Given the description of an element on the screen output the (x, y) to click on. 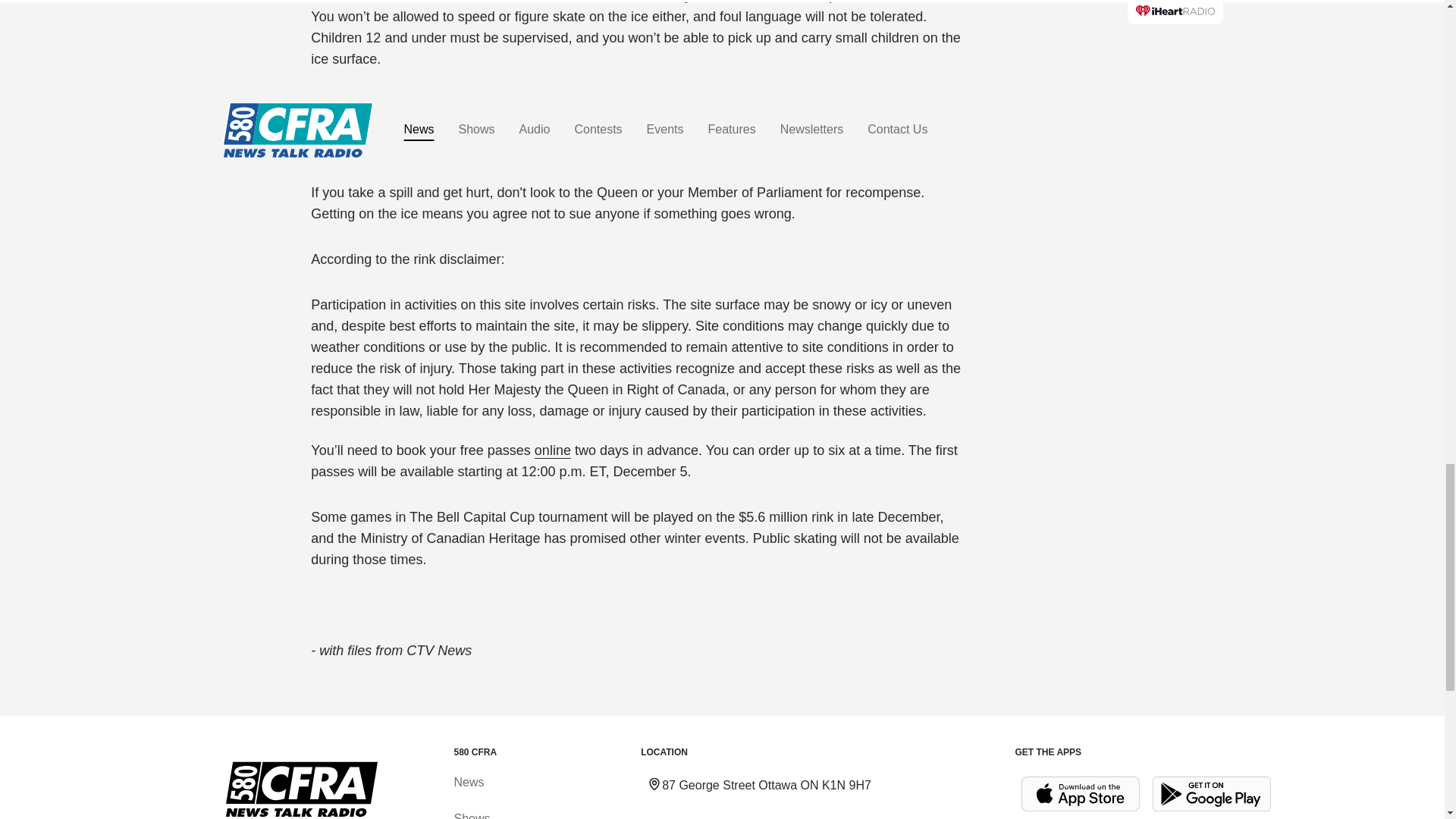
Get it on Google Play (1212, 794)
Download on the App Store (1080, 794)
News (467, 781)
online (552, 450)
Shows (470, 815)
